Given the description of an element on the screen output the (x, y) to click on. 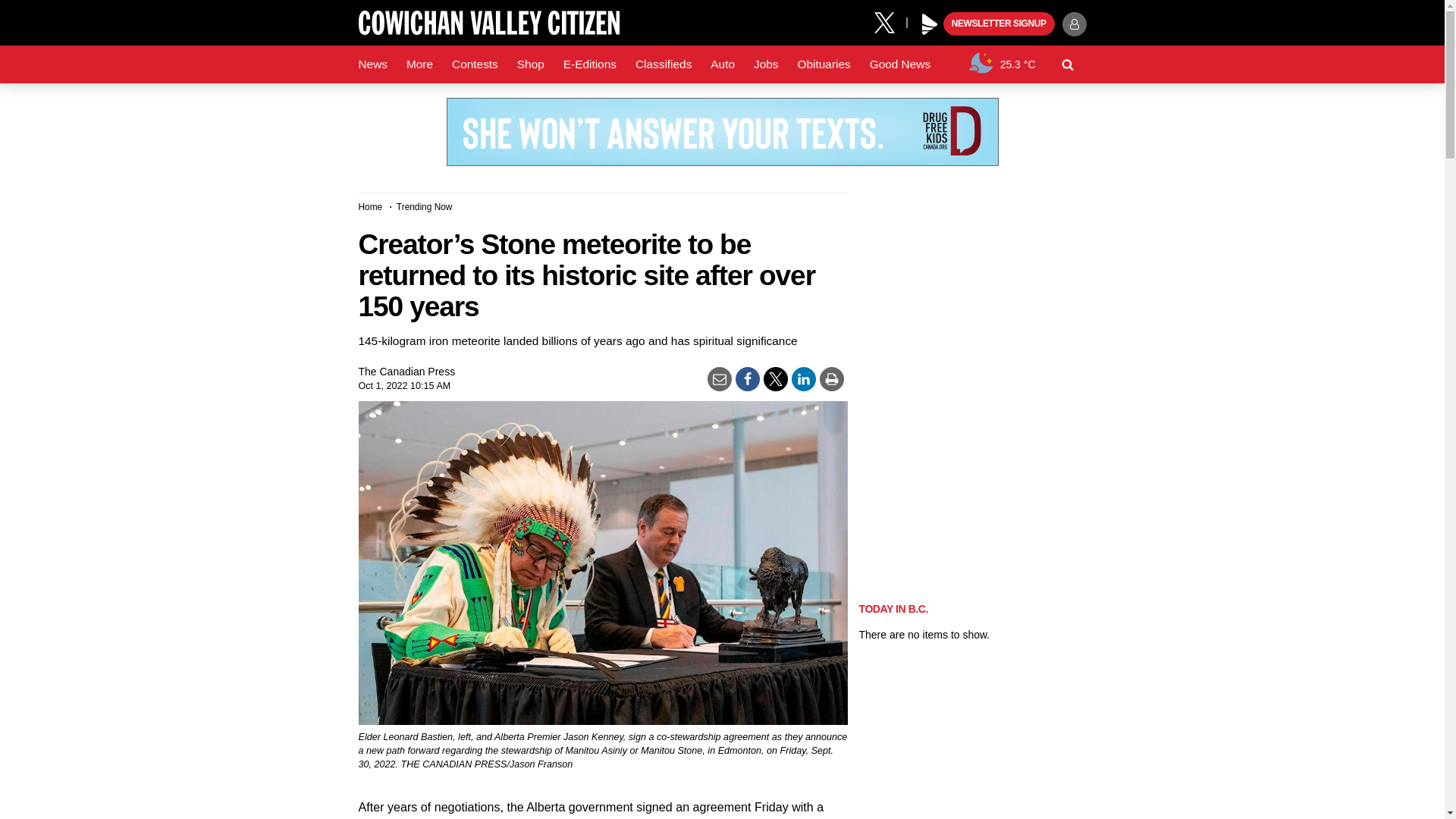
NEWSLETTER SIGNUP (998, 24)
Black Press Media (929, 24)
X (889, 21)
News (372, 64)
3rd party ad content (721, 131)
Play (929, 24)
